Given the description of an element on the screen output the (x, y) to click on. 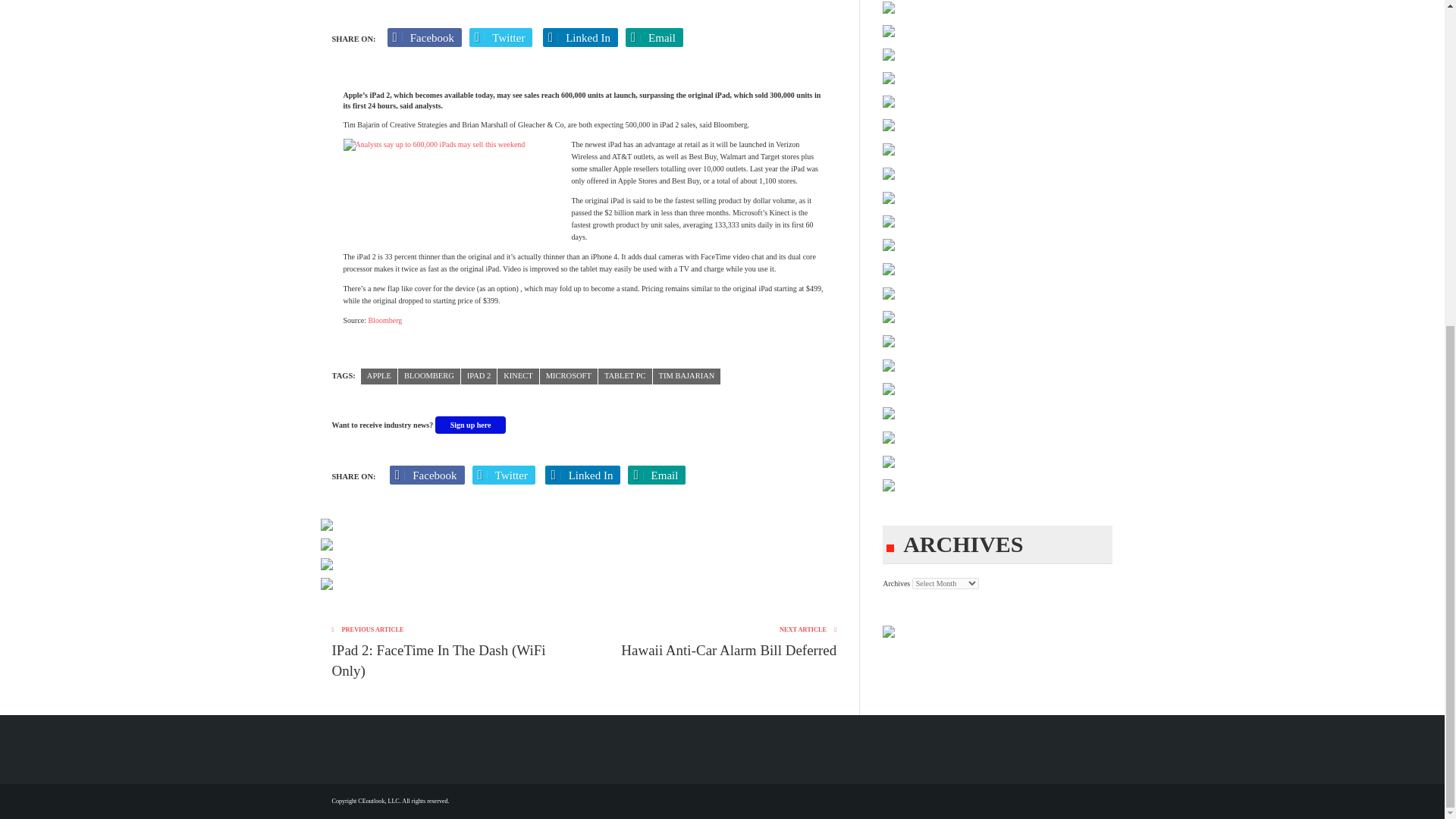
Facebook (425, 36)
Bloomberg (428, 376)
Linked In (580, 36)
Twitter (500, 36)
Email (654, 36)
Apple (379, 376)
iPad 2 (478, 376)
iPad 2 cover (448, 187)
